Given the description of an element on the screen output the (x, y) to click on. 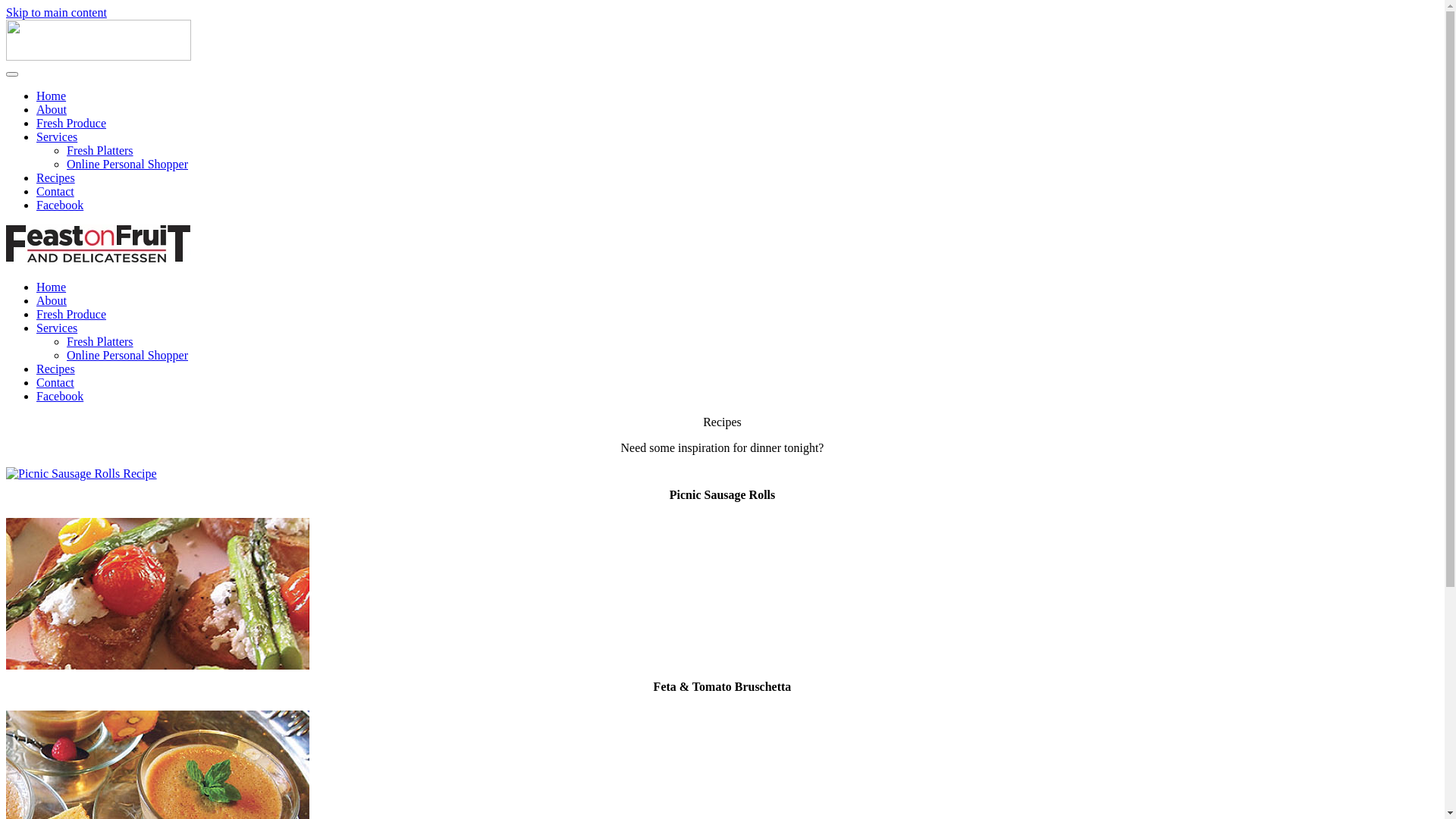
Home Element type: text (50, 286)
Fresh Produce Element type: text (71, 313)
Facebook Element type: text (59, 395)
Feta & Tomato Bruschetta Recipe Element type: hover (157, 664)
Fresh Produce Element type: text (71, 122)
Fresh Platters Element type: text (99, 341)
Fresh Platters Element type: text (99, 150)
Services Element type: text (56, 327)
Online Personal Shopper Element type: text (127, 354)
Recipes Element type: text (55, 368)
Home Element type: text (50, 95)
Picnic Sausage Rolls Recipe Element type: hover (81, 473)
Recipes Element type: text (55, 177)
Services Element type: text (56, 136)
About Element type: text (51, 109)
Online Personal Shopper Element type: text (127, 163)
Contact Element type: text (55, 191)
Contact Element type: text (55, 382)
About Element type: text (51, 300)
Facebook Element type: text (59, 204)
Skip to main content Element type: text (56, 12)
